Given the description of an element on the screen output the (x, y) to click on. 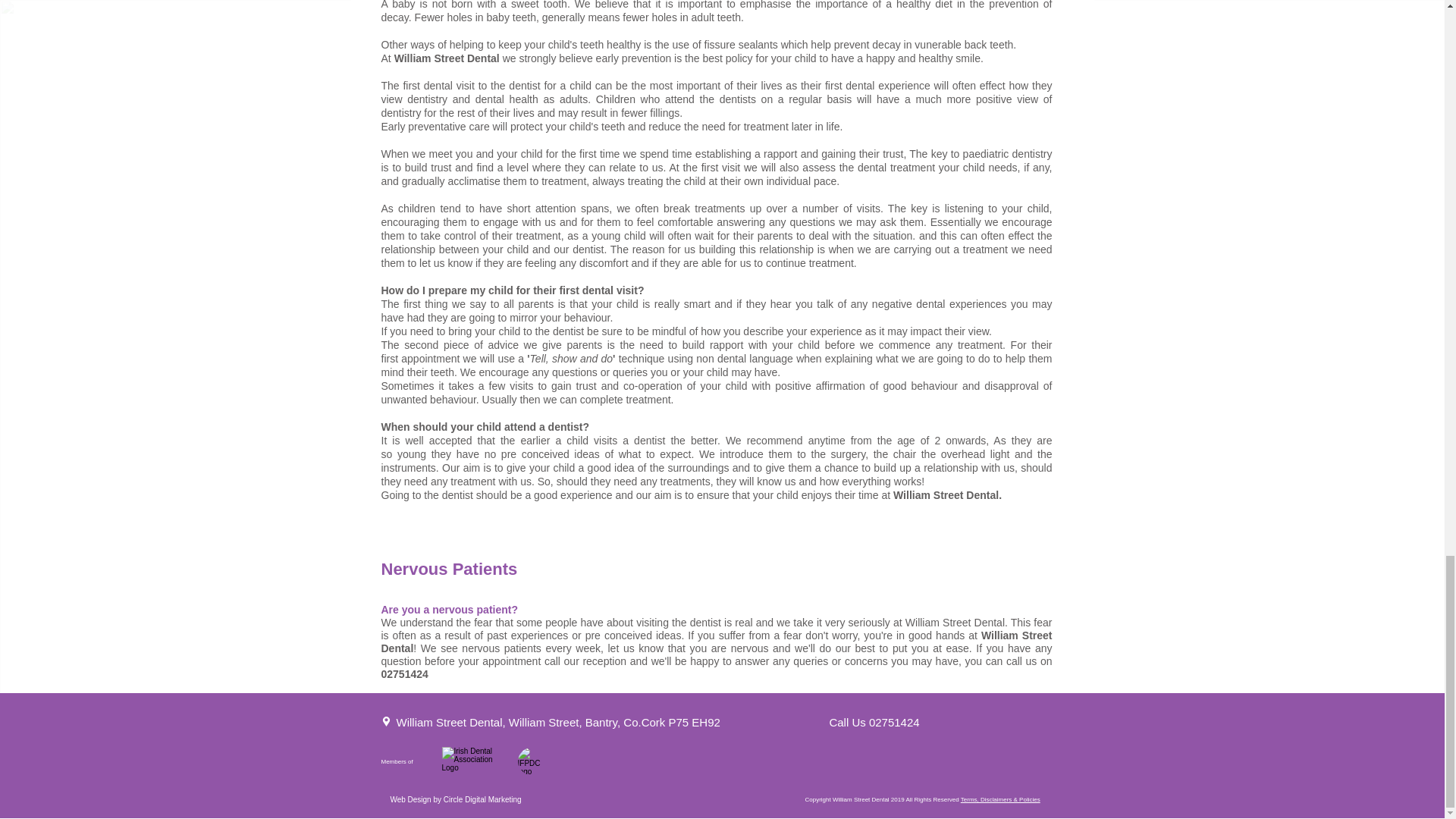
Web Design by Circle Digital Marketing (455, 799)
02751424 (404, 674)
Call Us 02751424 (874, 721)
